Given the description of an element on the screen output the (x, y) to click on. 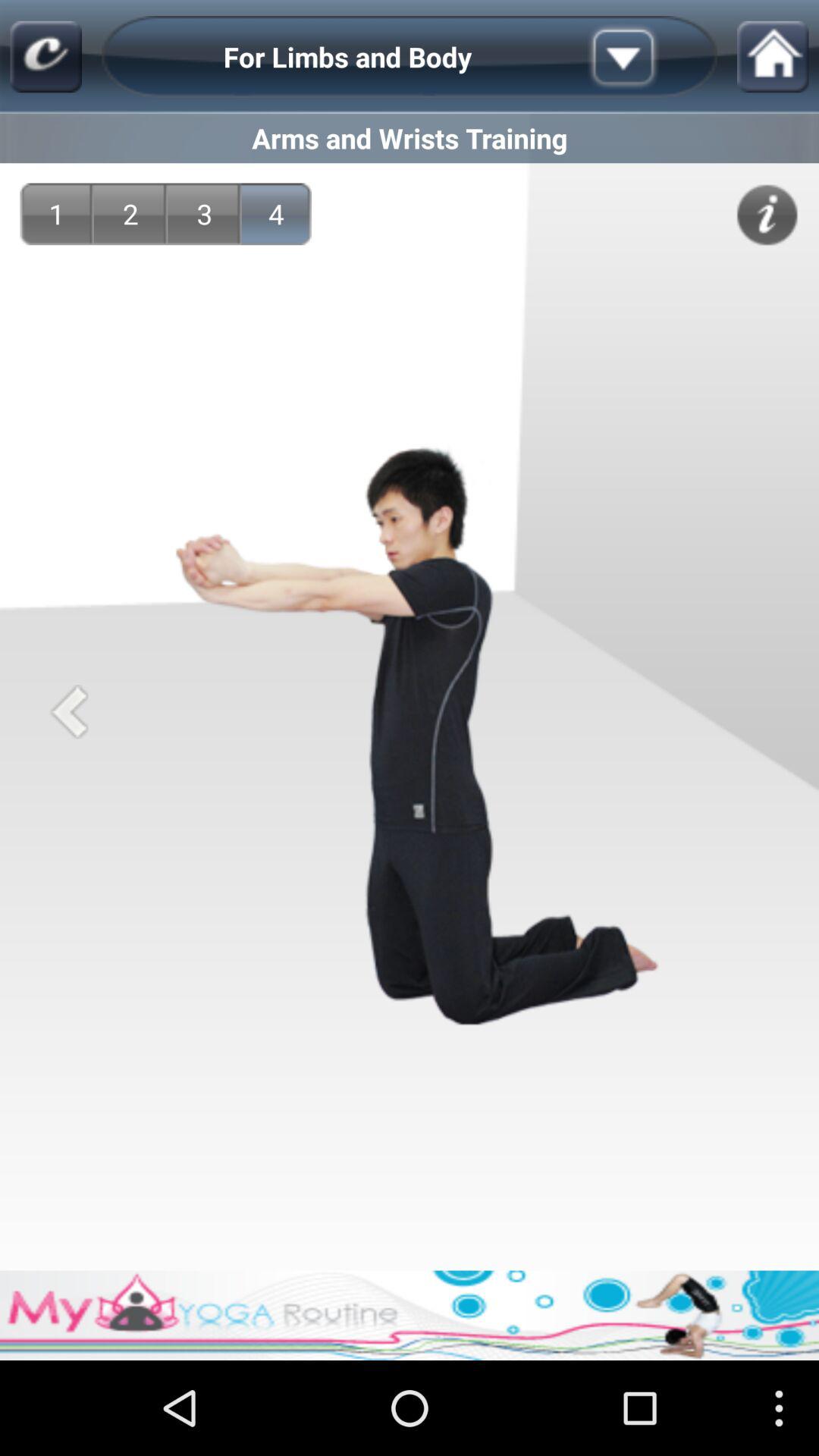
turn off item next to the 2 icon (56, 214)
